Given the description of an element on the screen output the (x, y) to click on. 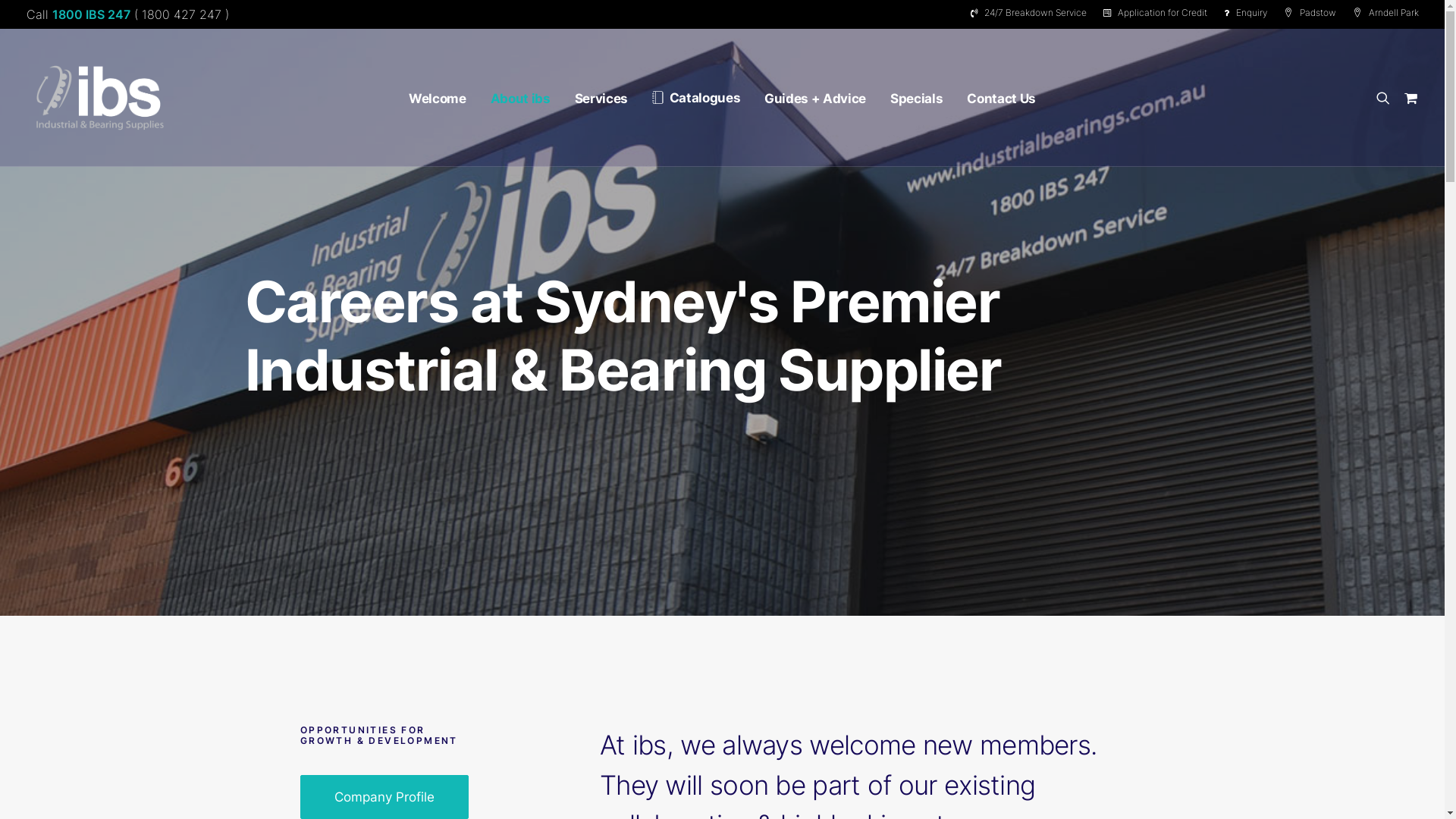
1800 IBS 247 Element type: text (90, 13)
Guides + Advice Element type: text (814, 99)
24/7 Breakdown Service Element type: text (1031, 12)
Enquiry Element type: text (1244, 12)
Catalogues Element type: text (695, 97)
Application for Credit Element type: text (1155, 12)
cart Element type: hover (1407, 97)
Contact Us Element type: text (1001, 99)
Arndell Park Element type: text (1381, 12)
About ibs Element type: text (520, 99)
Welcome Element type: text (437, 99)
Specials Element type: text (916, 99)
Services Element type: text (601, 99)
Padstow Element type: text (1310, 12)
